Given the description of an element on the screen output the (x, y) to click on. 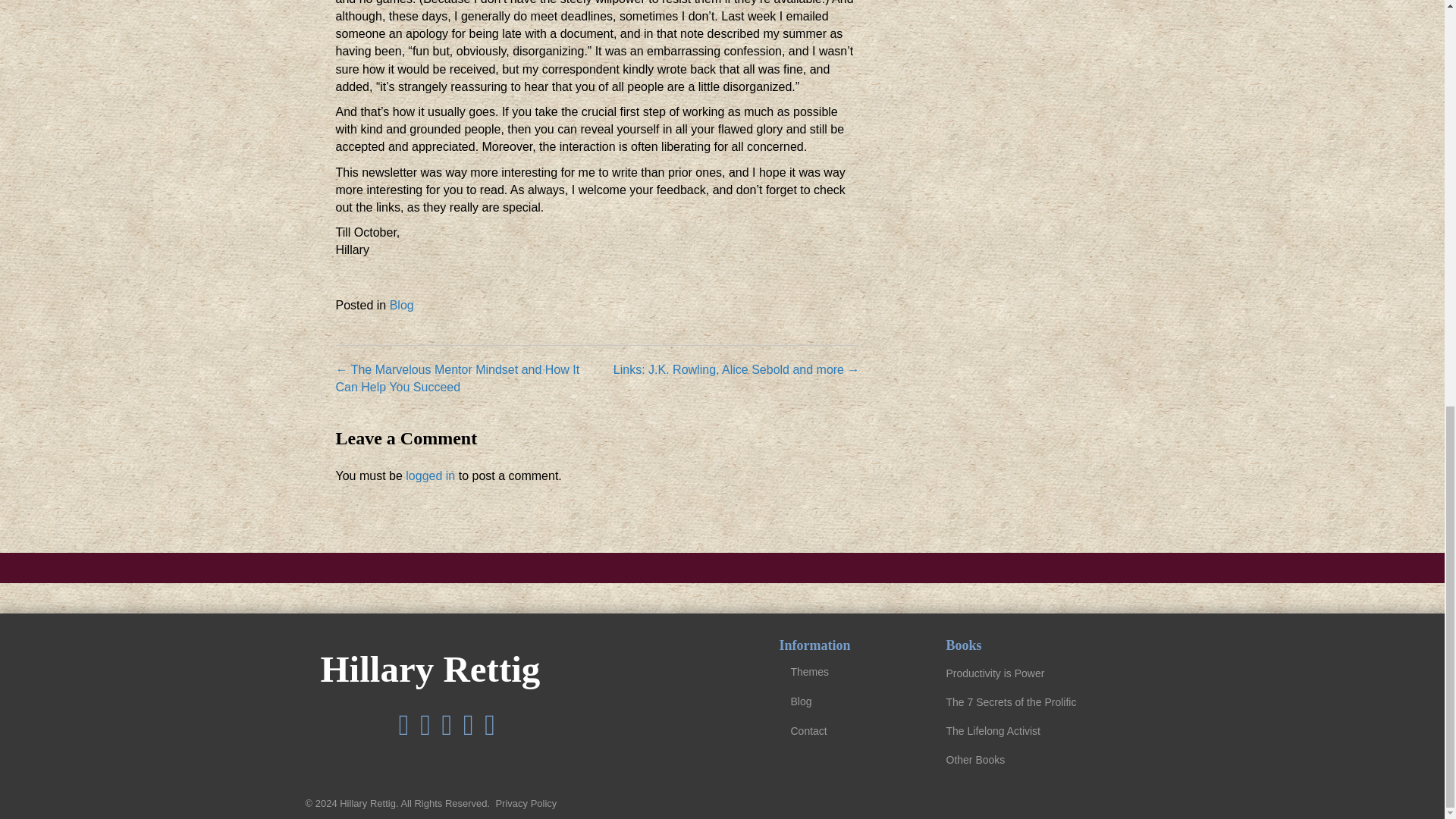
Hillary Rettig (430, 669)
Blog (847, 701)
Productivity is Power (995, 673)
Hillary Rettig (430, 669)
The 7 Secrets of the Prolific (1011, 702)
Contact (847, 730)
logged in (430, 475)
Themes (847, 671)
Blog (401, 305)
